Given the description of an element on the screen output the (x, y) to click on. 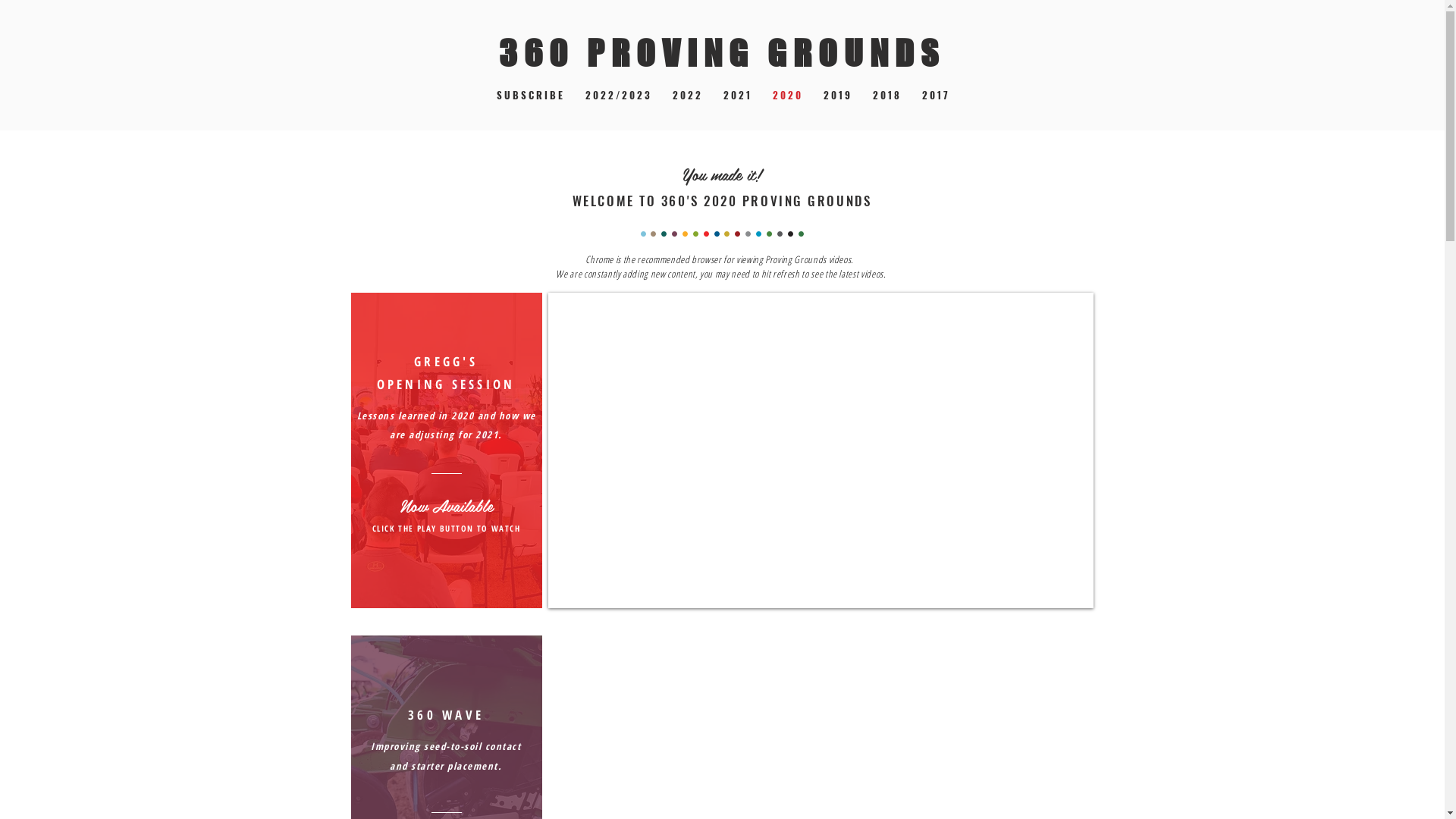
2 0 2 2 / 2 0 2 3 Element type: text (616, 94)
2 0 2 0 Element type: text (786, 94)
2 0 1 8 Element type: text (885, 94)
2 0 2 2 Element type: text (686, 94)
2 0 1 9 Element type: text (835, 94)
S U B S C R I B E Element type: text (529, 94)
2 0 2 1 Element type: text (735, 94)
2 0 1 7 Element type: text (934, 94)
